Given the description of an element on the screen output the (x, y) to click on. 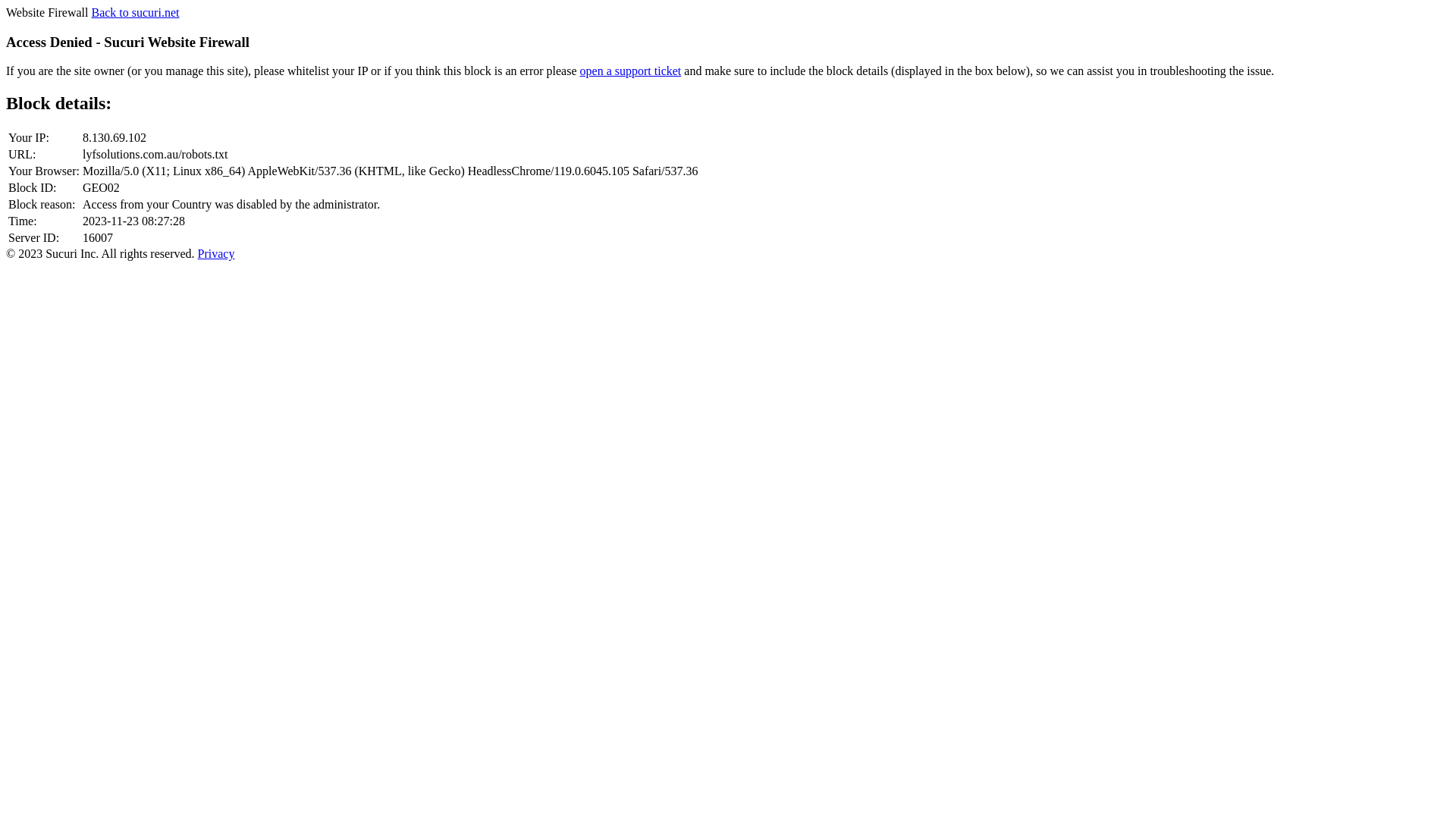
Back to sucuri.net Element type: text (134, 12)
Privacy Element type: text (216, 253)
open a support ticket Element type: text (630, 70)
